Given the description of an element on the screen output the (x, y) to click on. 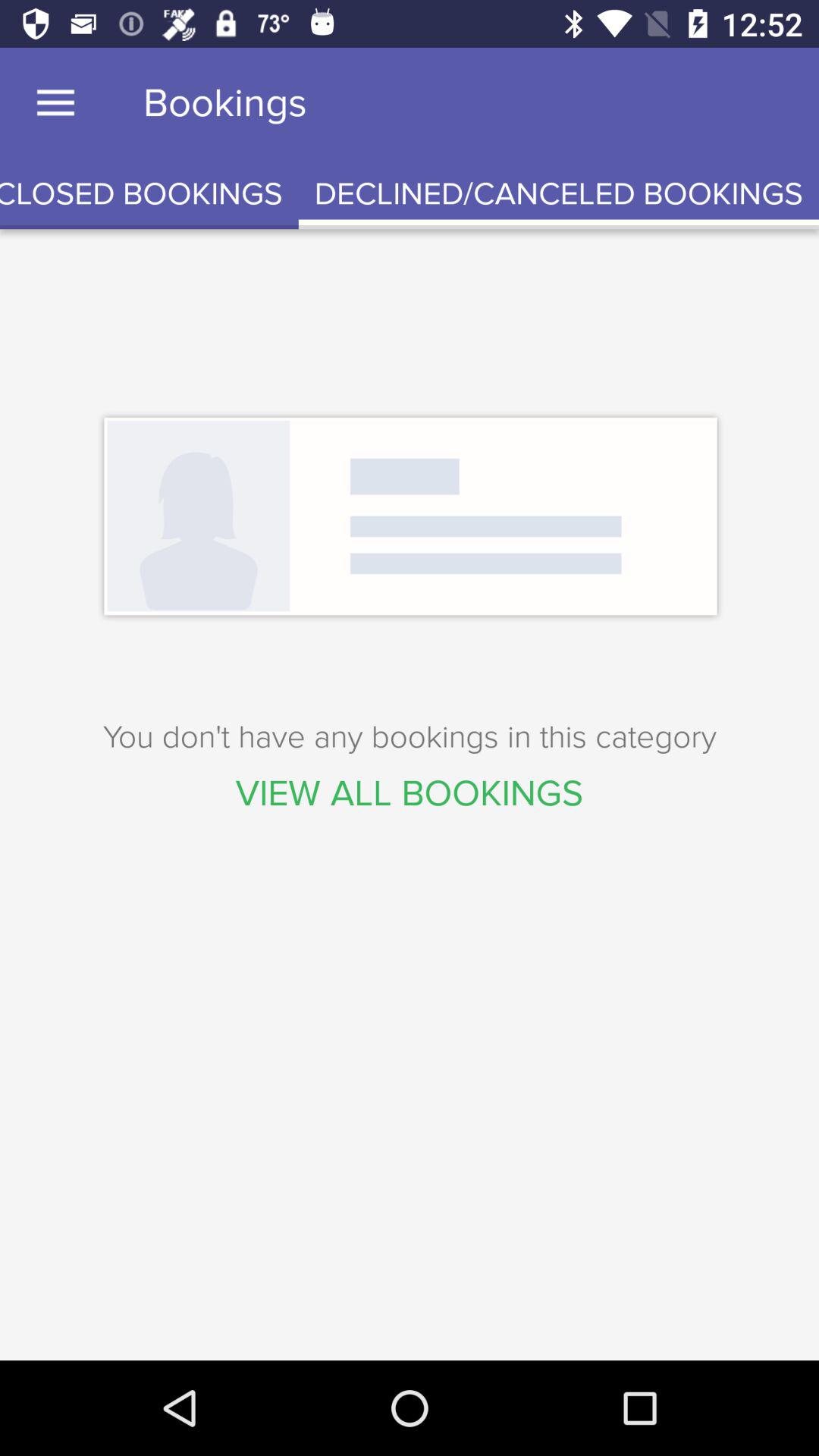
press the icon above the expired/closed bookings (55, 103)
